Given the description of an element on the screen output the (x, y) to click on. 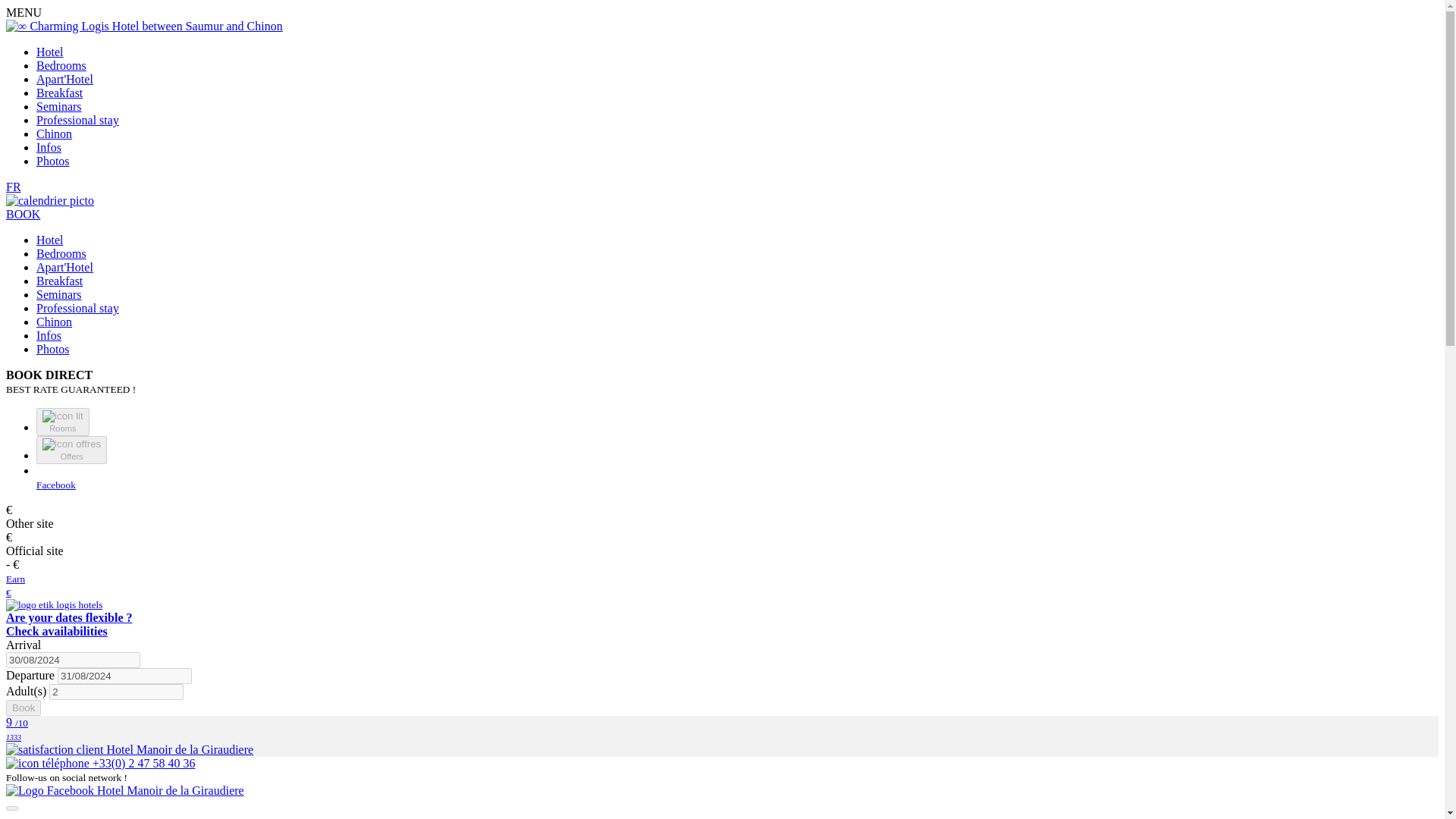
Breakfast (59, 92)
Chinon (53, 321)
Apartment for rent aparthotel between Saumur and Chinon  (68, 624)
Hotel Manoir de la Giraudiere (64, 78)
Bedrooms (13, 186)
Breakfast (60, 65)
Apart'Hotel (59, 280)
Facebook (64, 267)
Photos (55, 490)
